Given the description of an element on the screen output the (x, y) to click on. 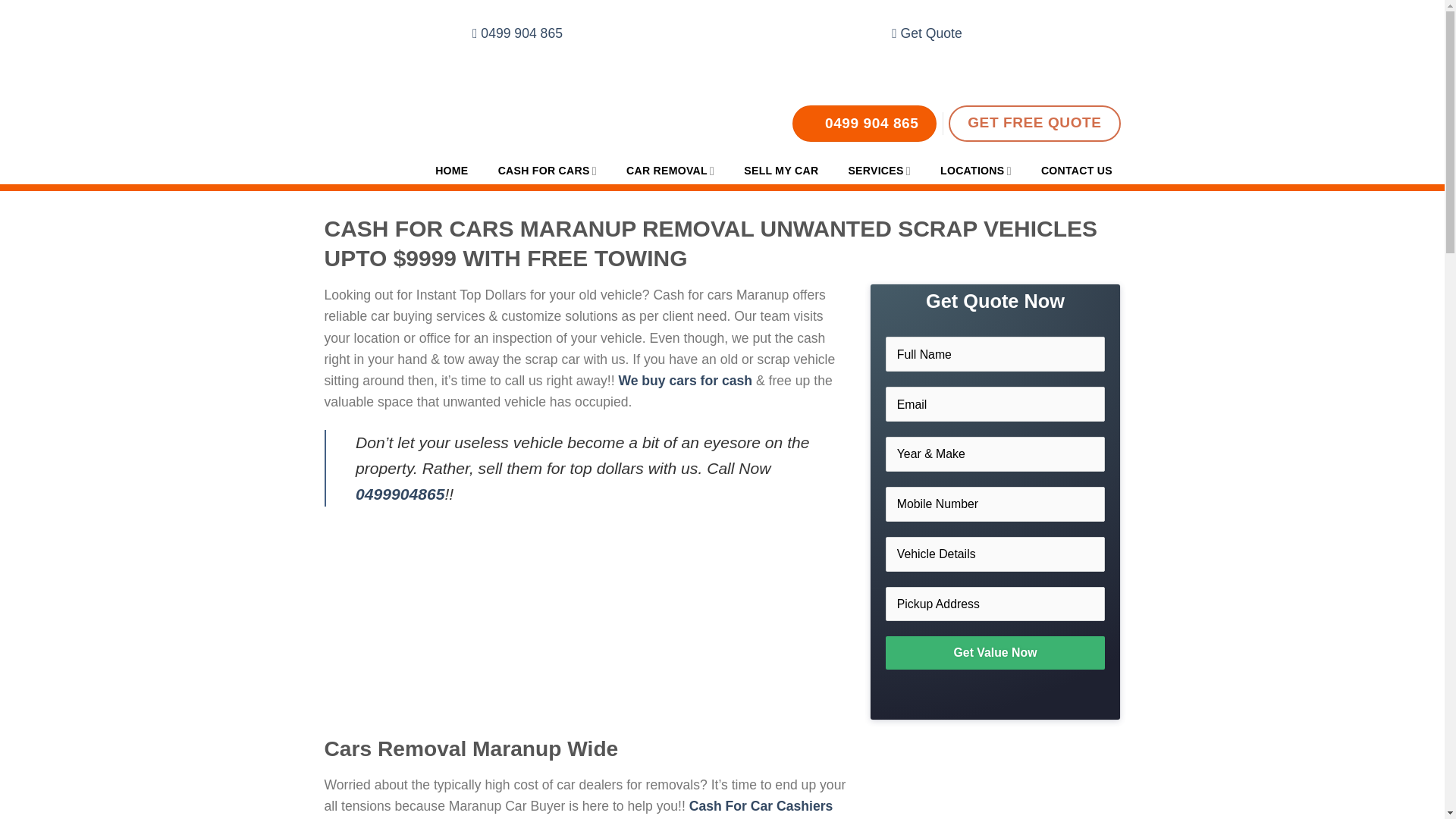
CAR REMOVAL (670, 171)
0499 904 865 (864, 123)
SERVICES (879, 171)
GET FREE QUOTE (1034, 123)
LOCATIONS (976, 171)
We buy cars for cash (684, 380)
HOME (452, 171)
Cash For Car Cashiers Perth (578, 808)
Get Quote (926, 32)
Get Value Now (995, 652)
